Given the description of an element on the screen output the (x, y) to click on. 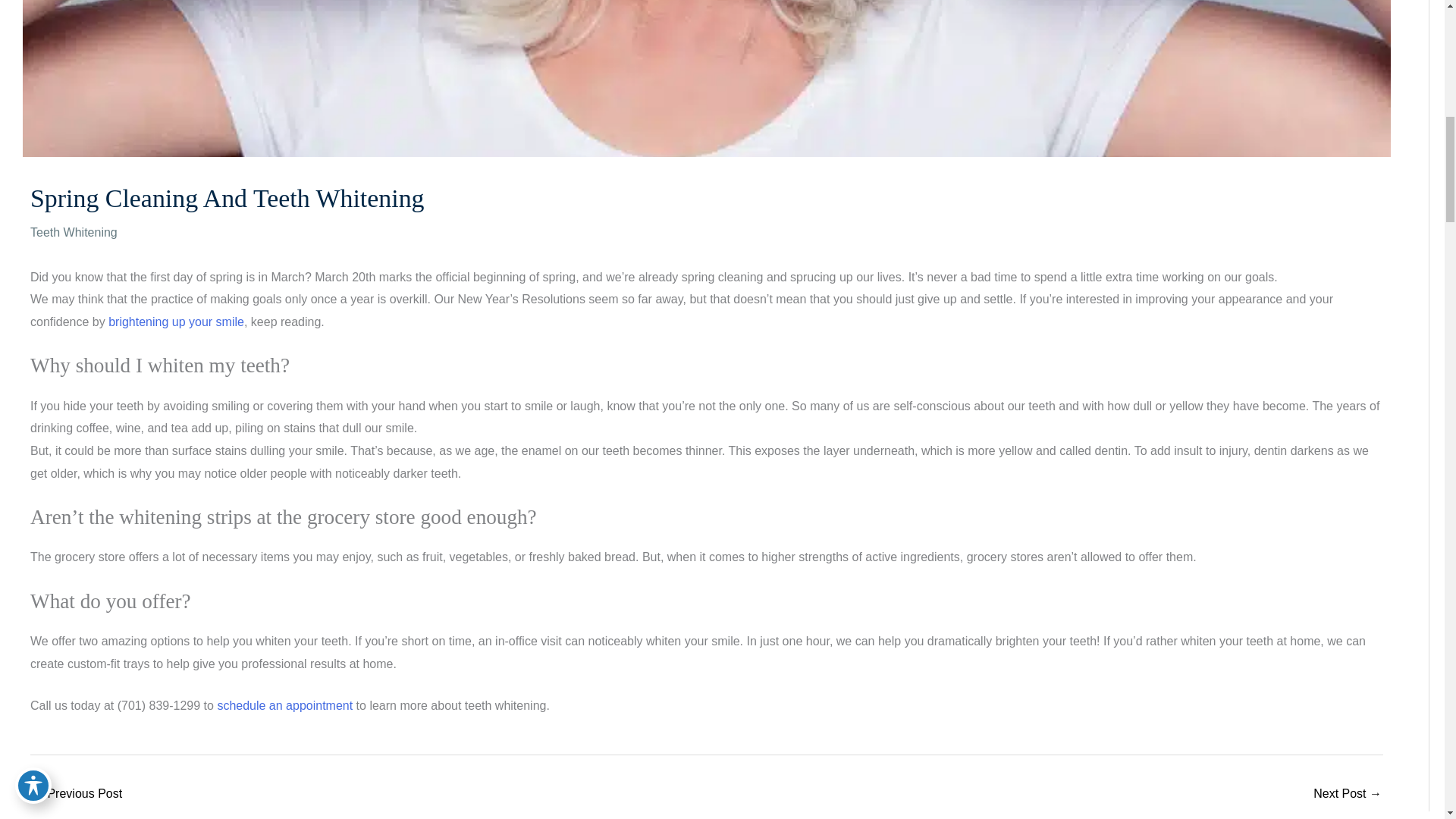
Checking for Oral Cancer (1347, 795)
Making Your Personal Dental Plan (77, 795)
